Given the description of an element on the screen output the (x, y) to click on. 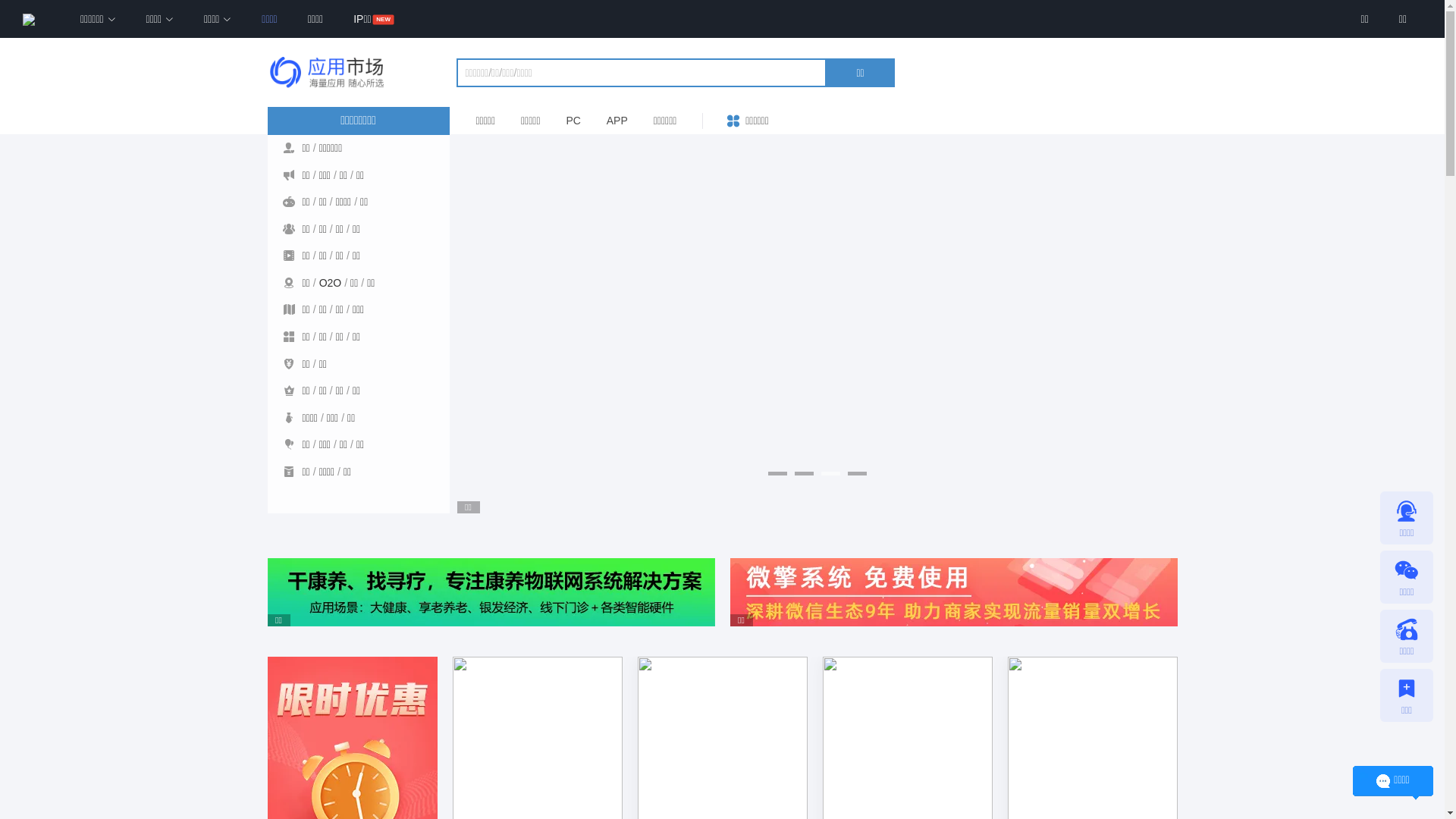
PC Element type: text (572, 120)
APP Element type: text (617, 120)
O2O Element type: text (330, 282)
